Given the description of an element on the screen output the (x, y) to click on. 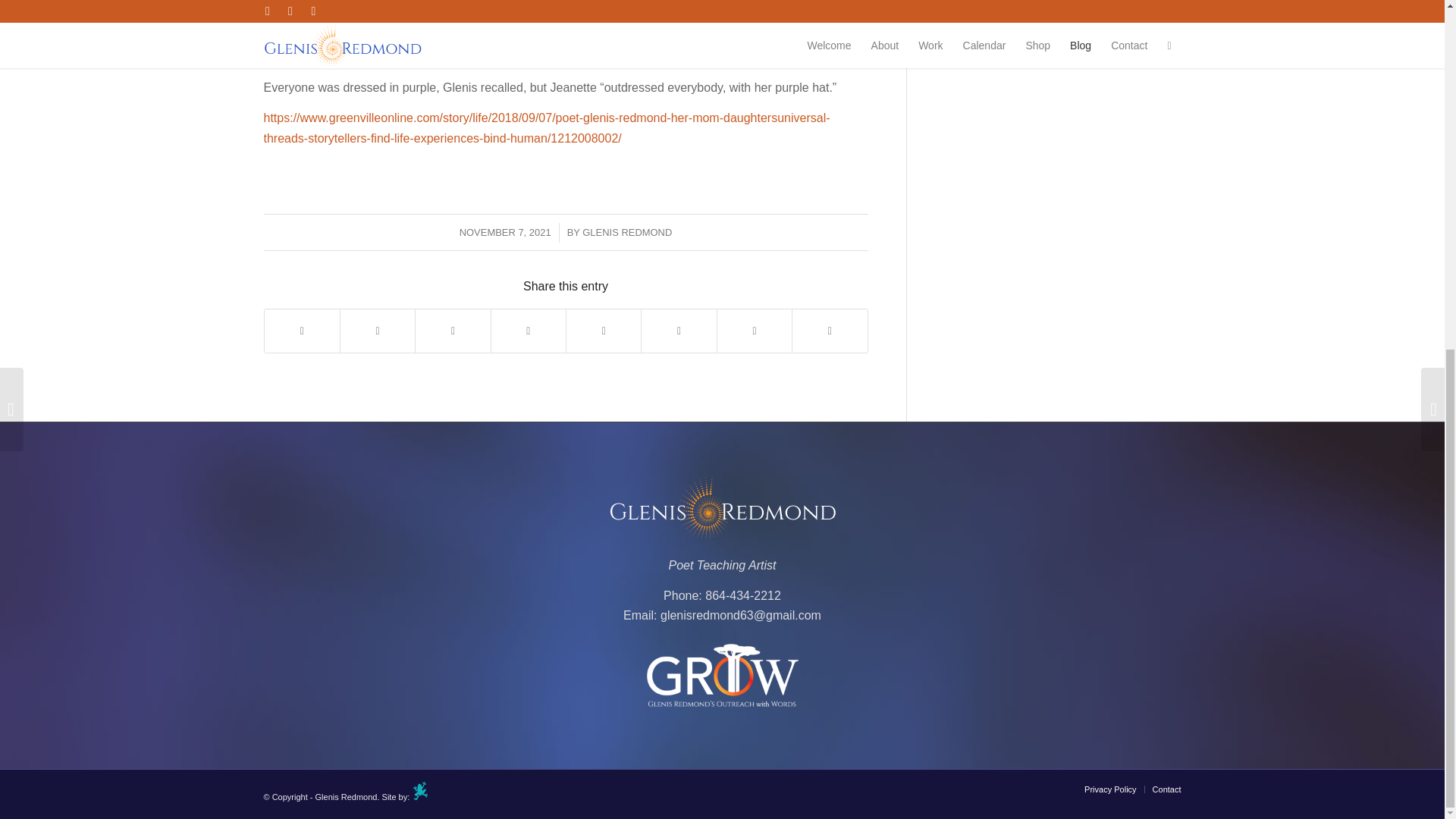
GLENIS REDMOND (626, 232)
Posts by Glenis Redmond (626, 232)
